Given the description of an element on the screen output the (x, y) to click on. 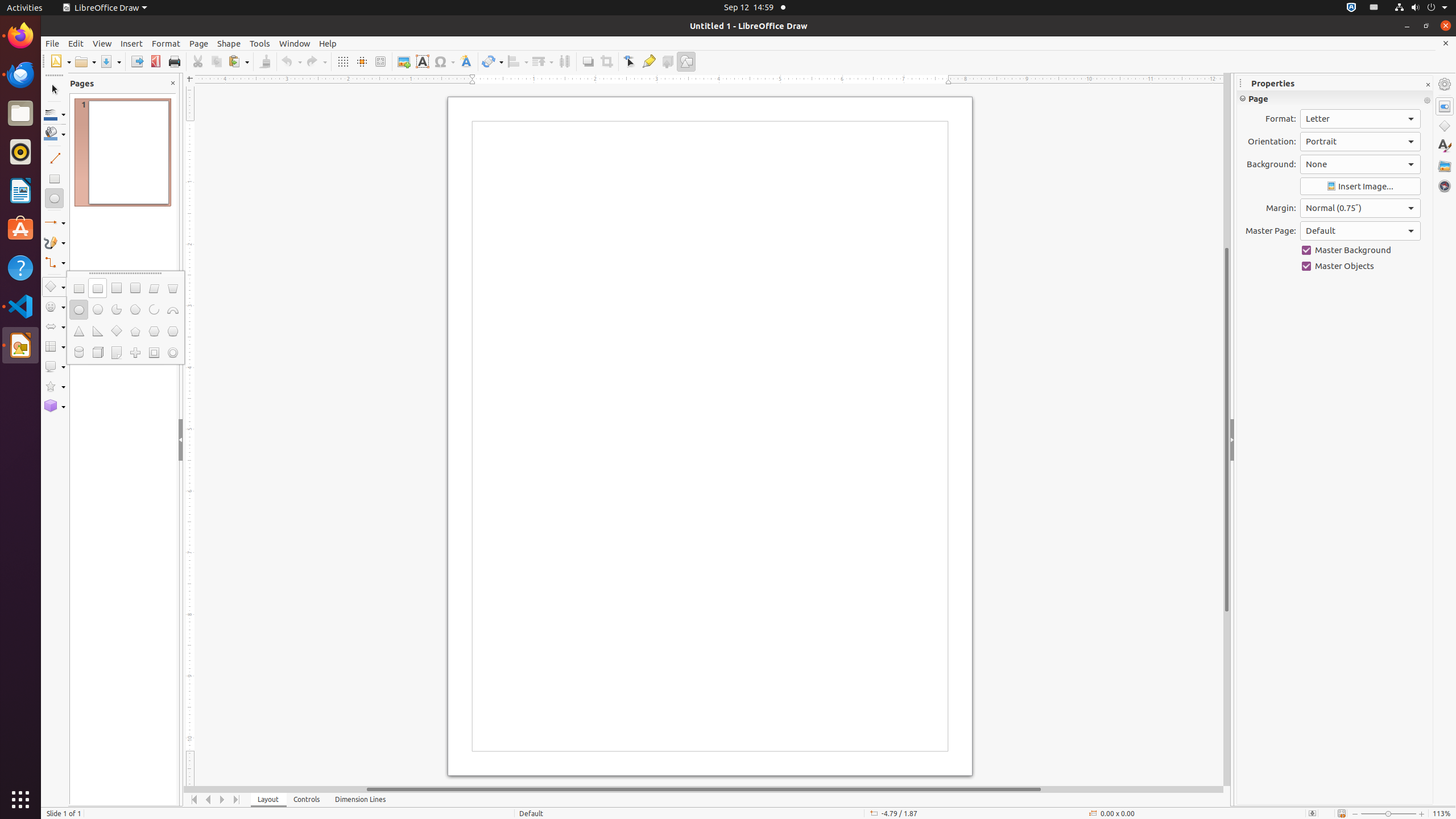
System Element type: menu (1420, 7)
Gallery Element type: radio-button (1444, 165)
Export Element type: push-button (136, 61)
Save Element type: push-button (109, 61)
Image Element type: push-button (403, 61)
